Given the description of an element on the screen output the (x, y) to click on. 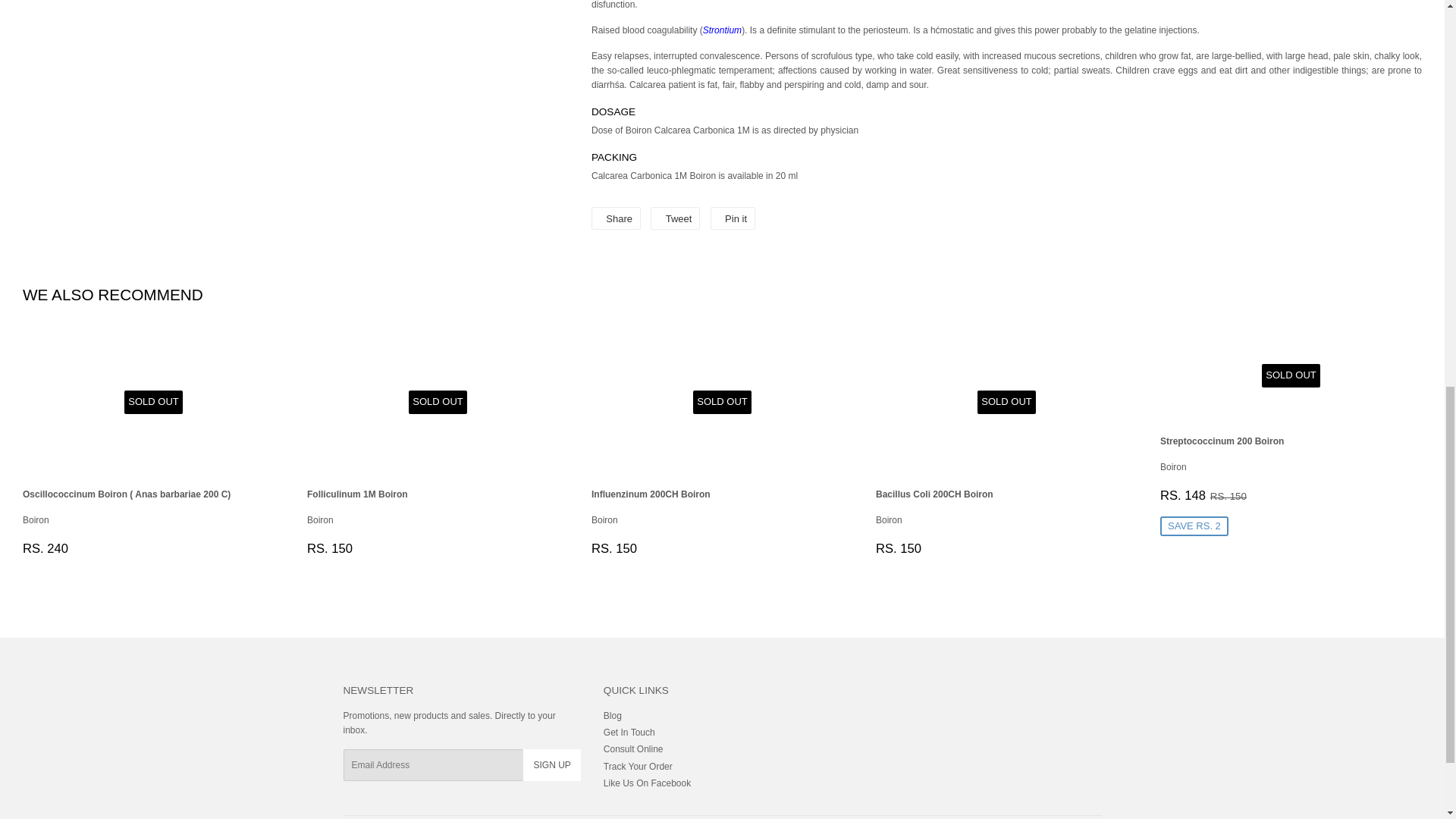
Share on Facebook (615, 218)
Pin on Pinterest (732, 218)
Tweet on Twitter (675, 218)
